Given the description of an element on the screen output the (x, y) to click on. 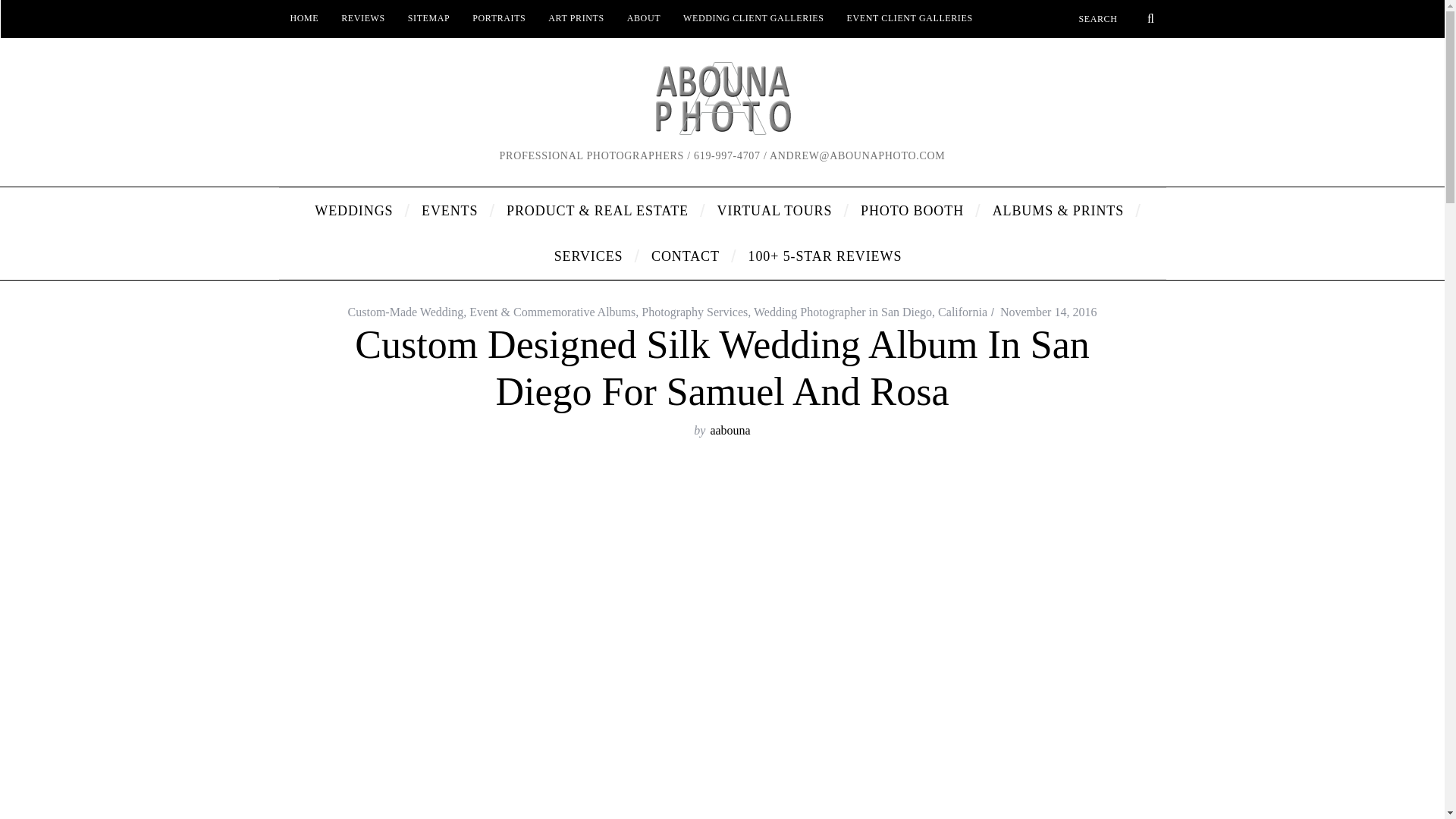
Photography Services (695, 311)
VIRTUAL TOURS (777, 210)
EVENT CLIENT GALLERIES (909, 18)
PHOTO BOOTH (914, 210)
HOME (304, 18)
REVIEWS (363, 18)
SERVICES (591, 256)
PORTRAITS (499, 18)
Search (1116, 18)
SITEMAP (428, 18)
